Given the description of an element on the screen output the (x, y) to click on. 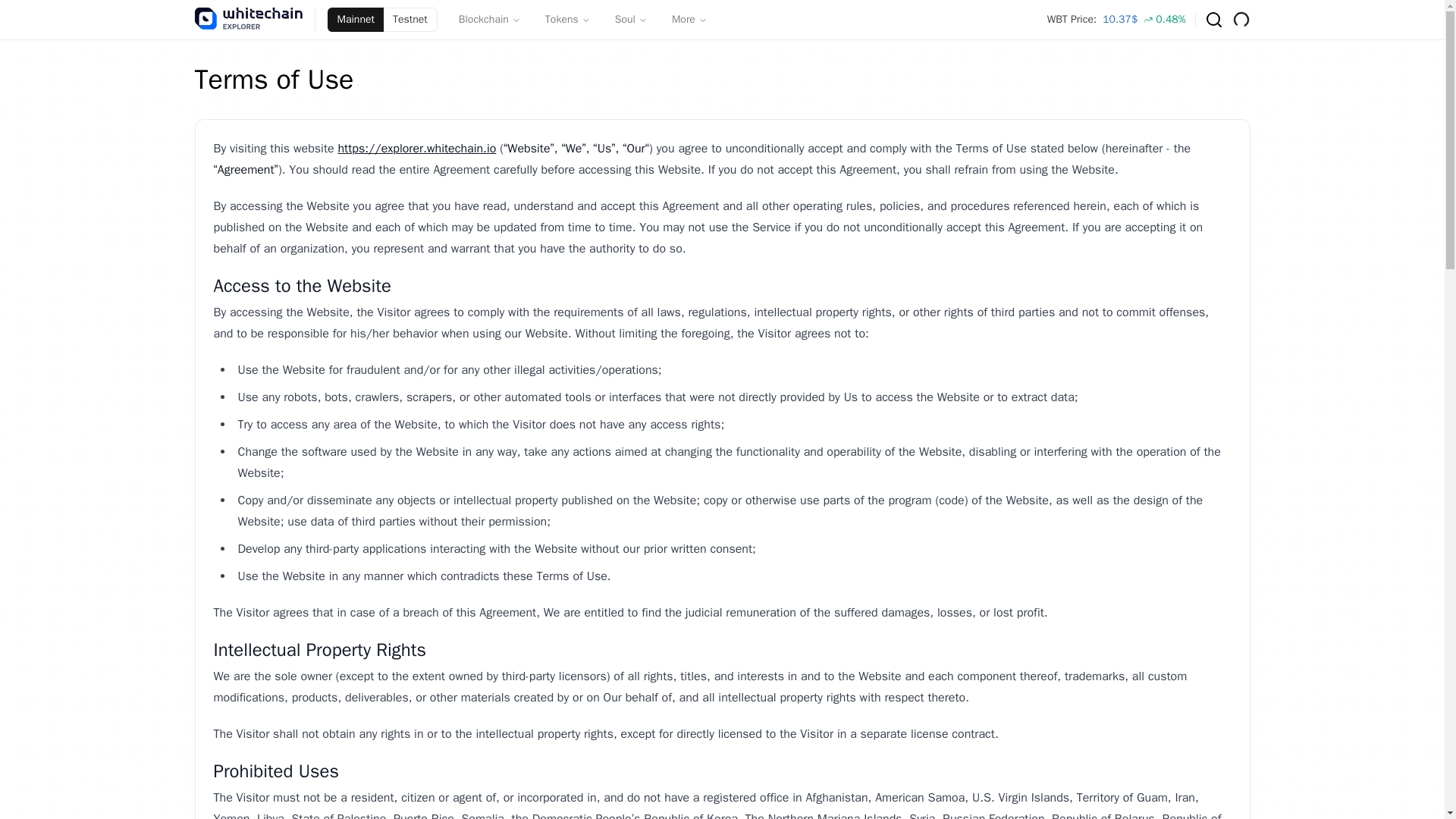
Tokens (567, 19)
More (689, 19)
Blockchain (489, 19)
Soul (630, 19)
Testnet (411, 19)
